Given the description of an element on the screen output the (x, y) to click on. 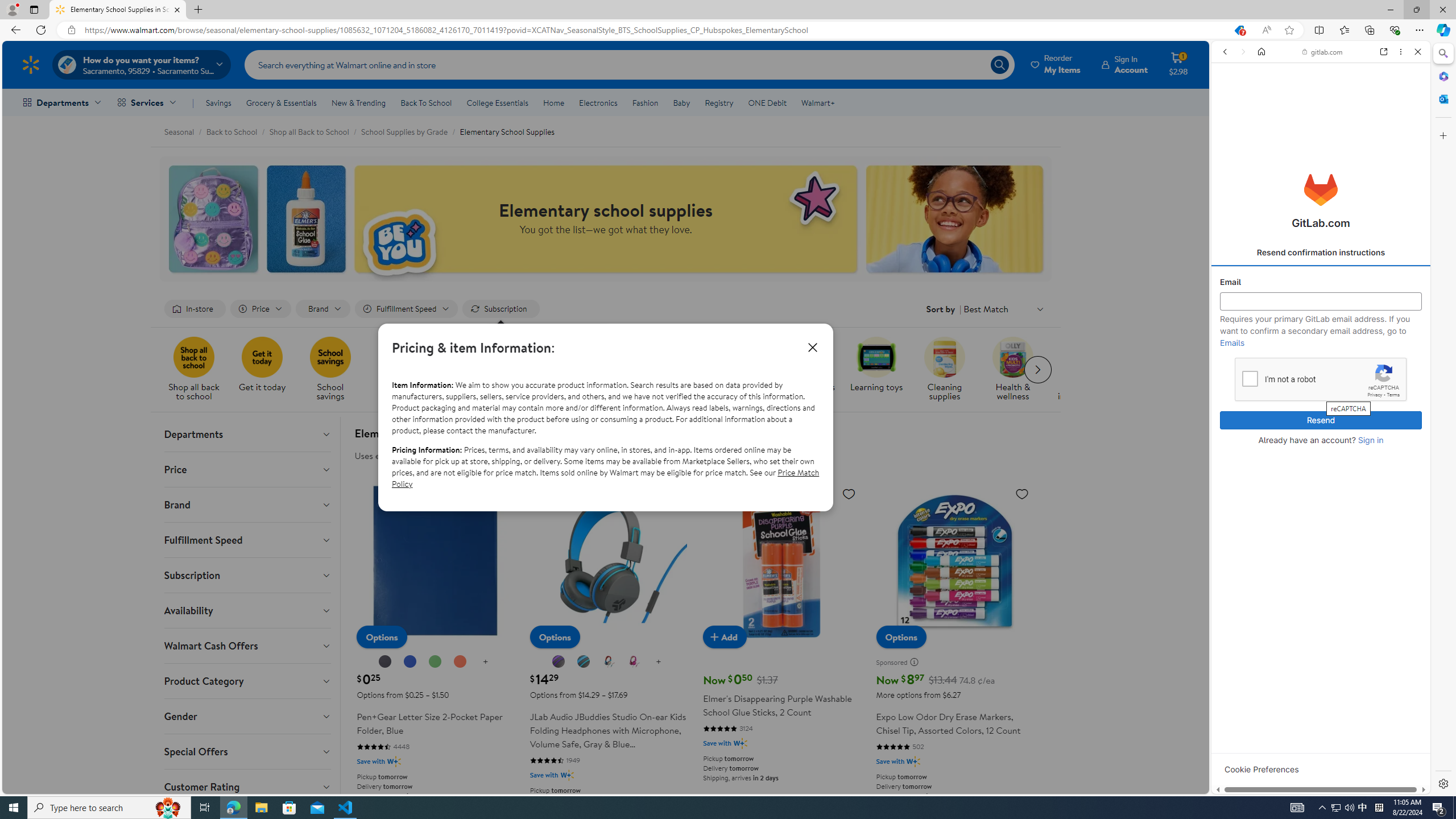
GitLab.com (1321, 189)
Resend confirmation instructions (1321, 252)
Close Search pane (1442, 53)
Web scope (1230, 102)
Register Now (1320, 253)
Email (1321, 301)
GitLab (1277, 794)
SEARCH TOOLS (1348, 130)
Search Filter, Search Tools (1348, 129)
View details (1379, 555)
Search Filter, ALL (1228, 129)
